Given the description of an element on the screen output the (x, y) to click on. 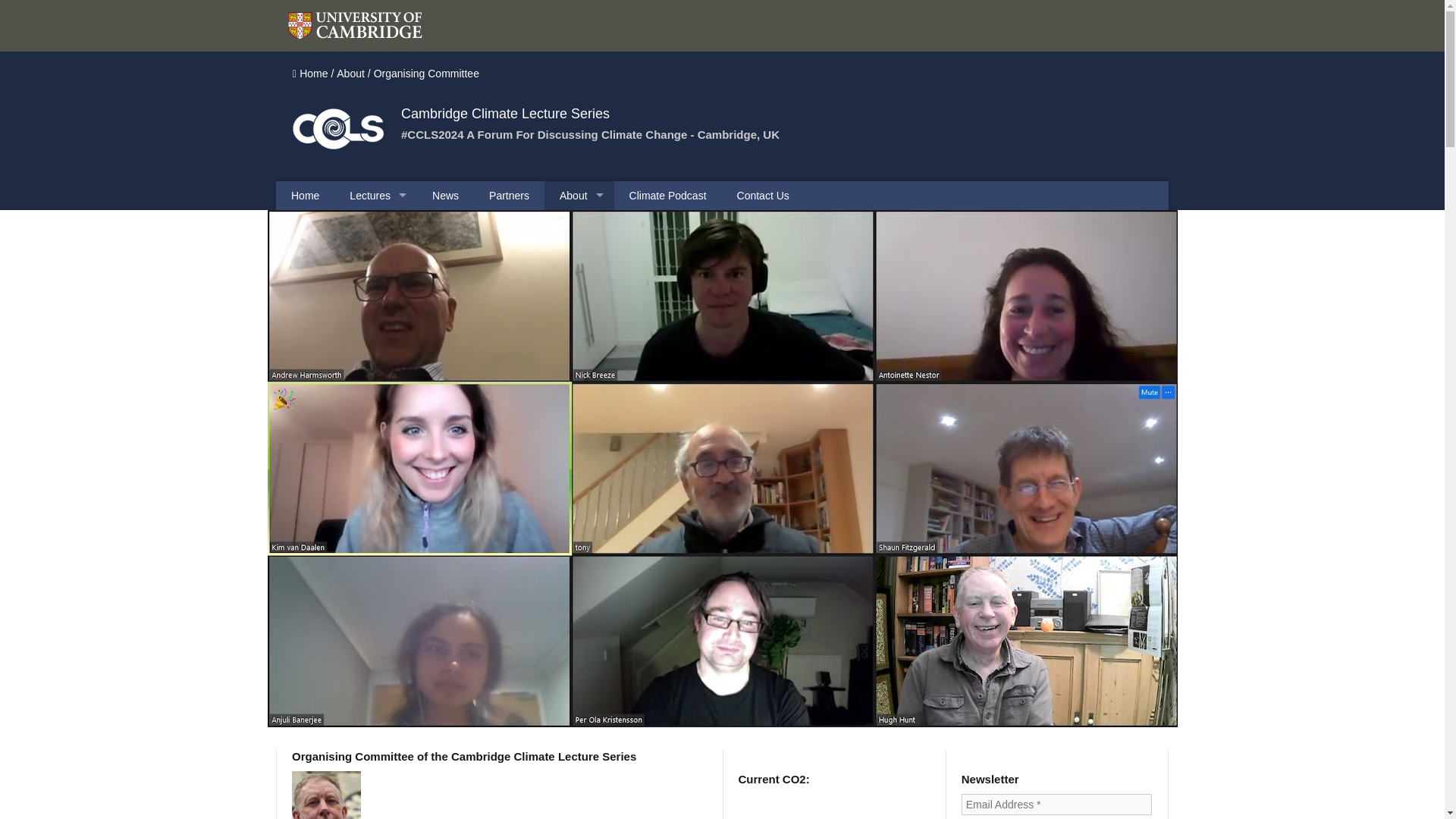
About (579, 194)
Home (313, 73)
Partners (509, 194)
Home (305, 194)
Climate Podcast (668, 194)
Contact Us (763, 194)
Lectures (375, 194)
About (350, 73)
News (445, 194)
